Given the description of an element on the screen output the (x, y) to click on. 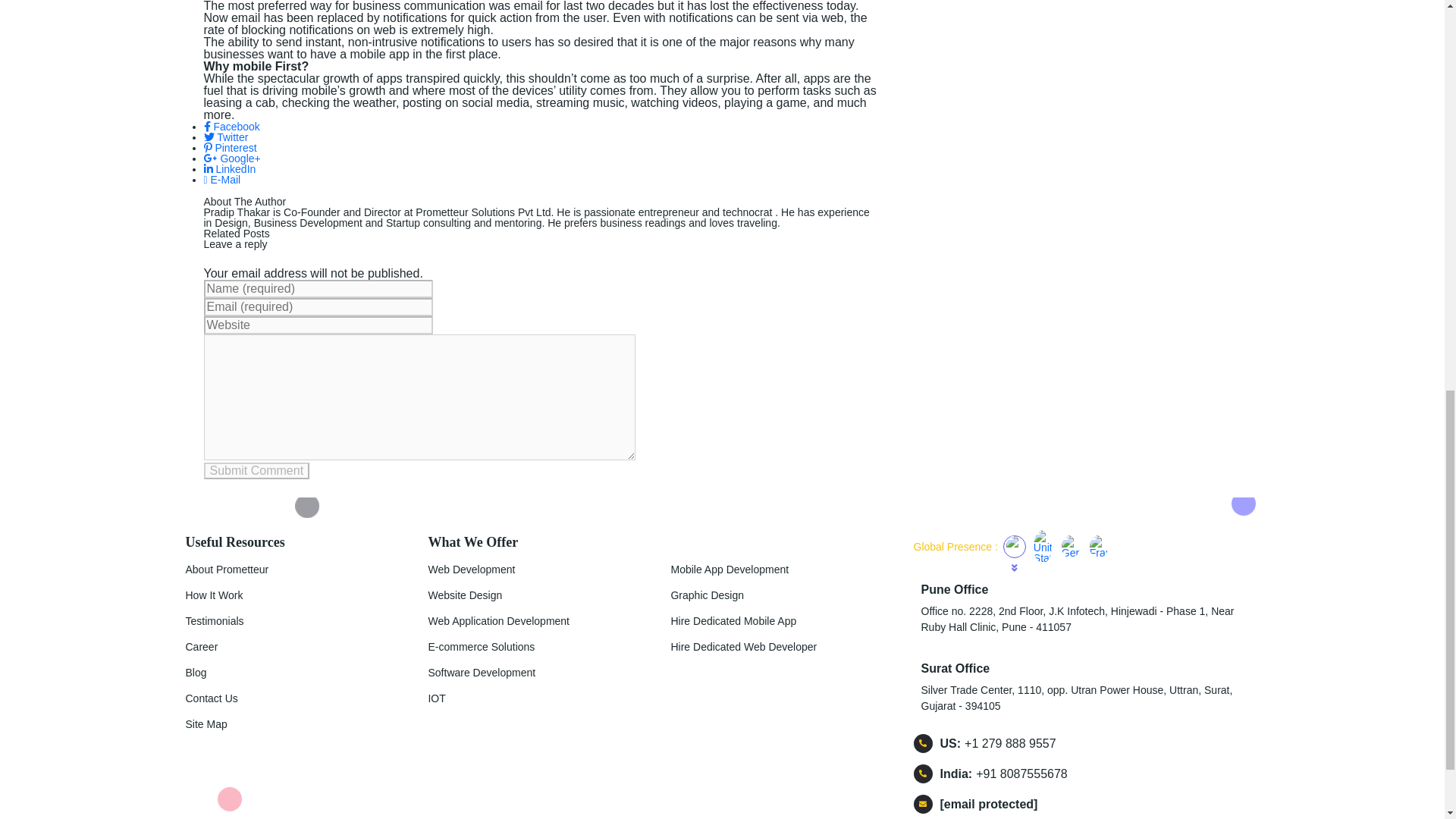
Share via Pinterest (229, 147)
Submit Comment (255, 470)
Share via Facebook (231, 126)
Share via Twitter (225, 137)
Share via LinkedIn (229, 168)
Share via E-Mail (221, 179)
